Given the description of an element on the screen output the (x, y) to click on. 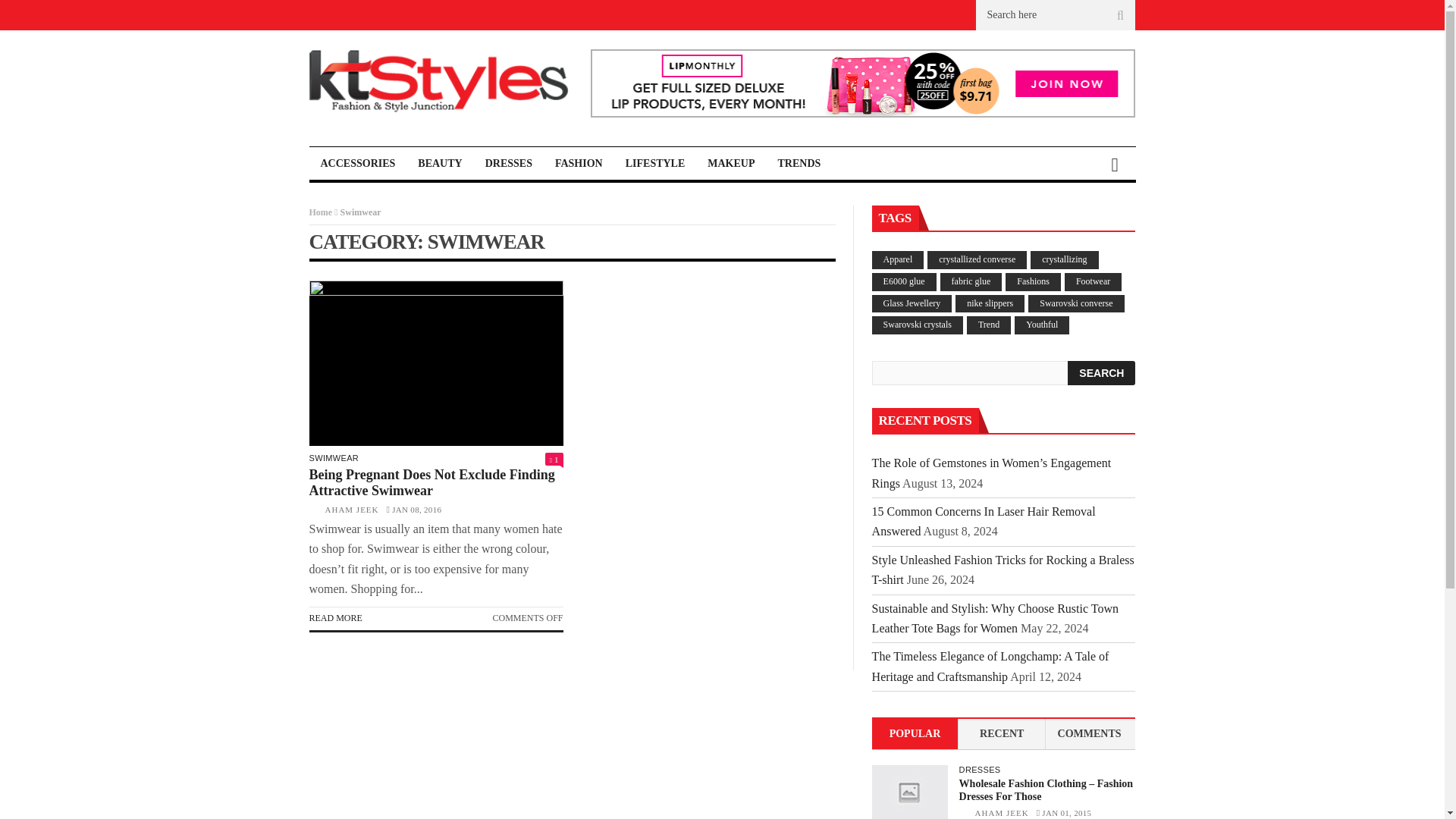
Fashions (1033, 281)
E6000 glue (904, 281)
Glass Jewellery (912, 303)
Youthful (1041, 325)
DRESSES (508, 163)
1 (554, 459)
Being Pregnant Does Not Exclude Finding Attractive Swimwear (431, 482)
Home (320, 212)
LIFESTYLE (655, 163)
Posts by Aham Jeek (1002, 812)
